Given the description of an element on the screen output the (x, y) to click on. 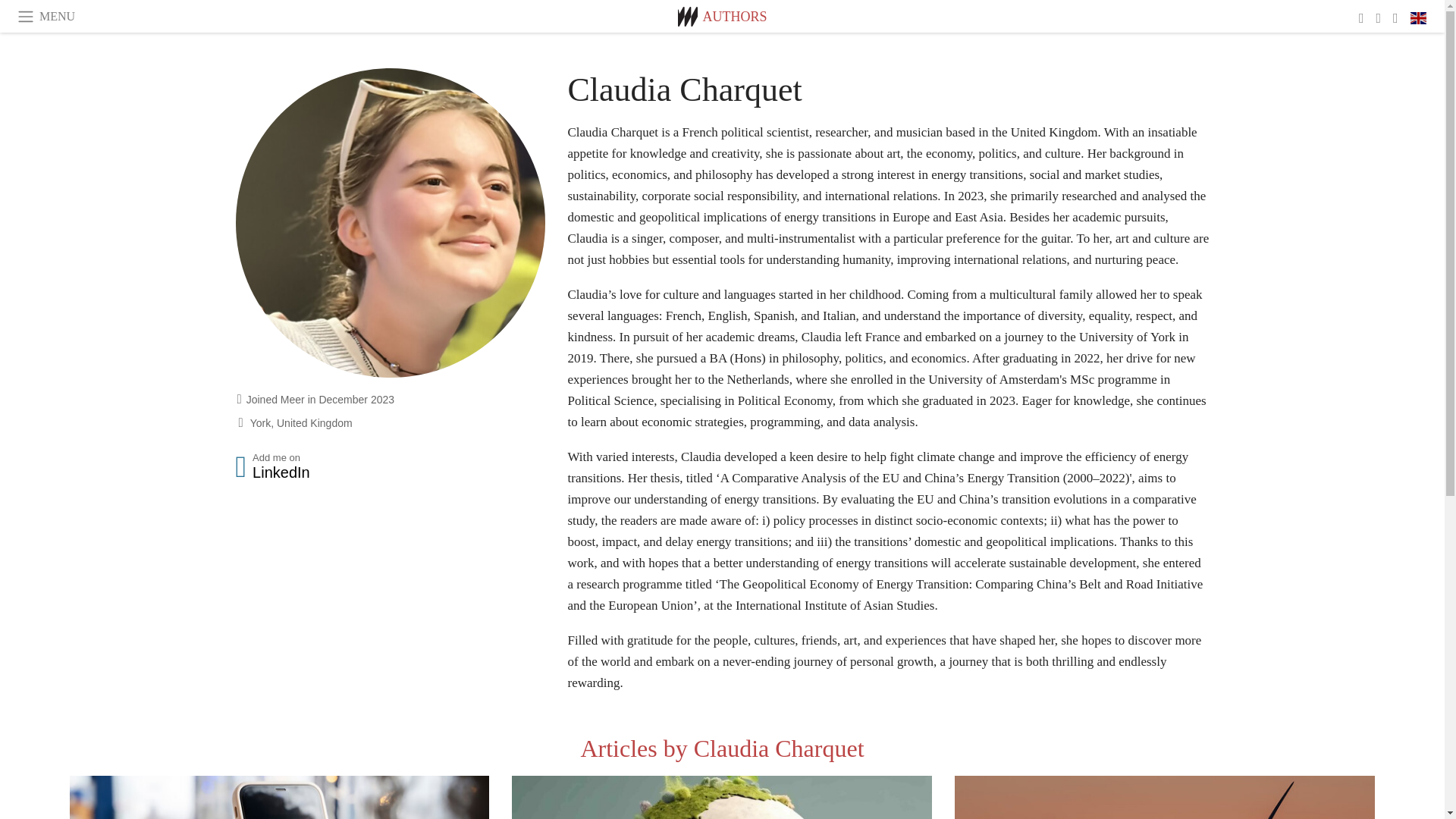
AUTHORS (734, 16)
